Given the description of an element on the screen output the (x, y) to click on. 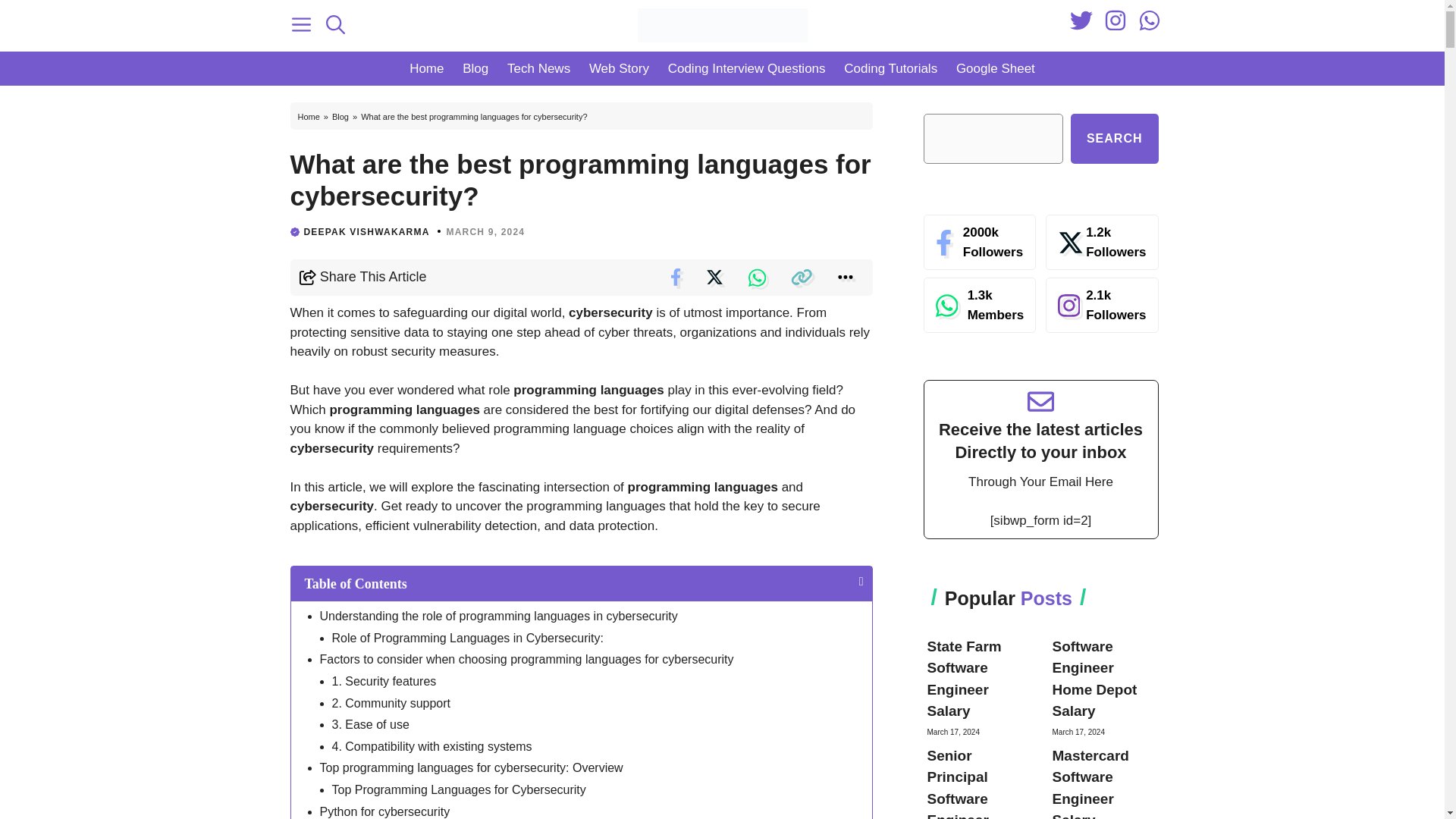
Coding Interview Pro (970, 780)
